Given the description of an element on the screen output the (x, y) to click on. 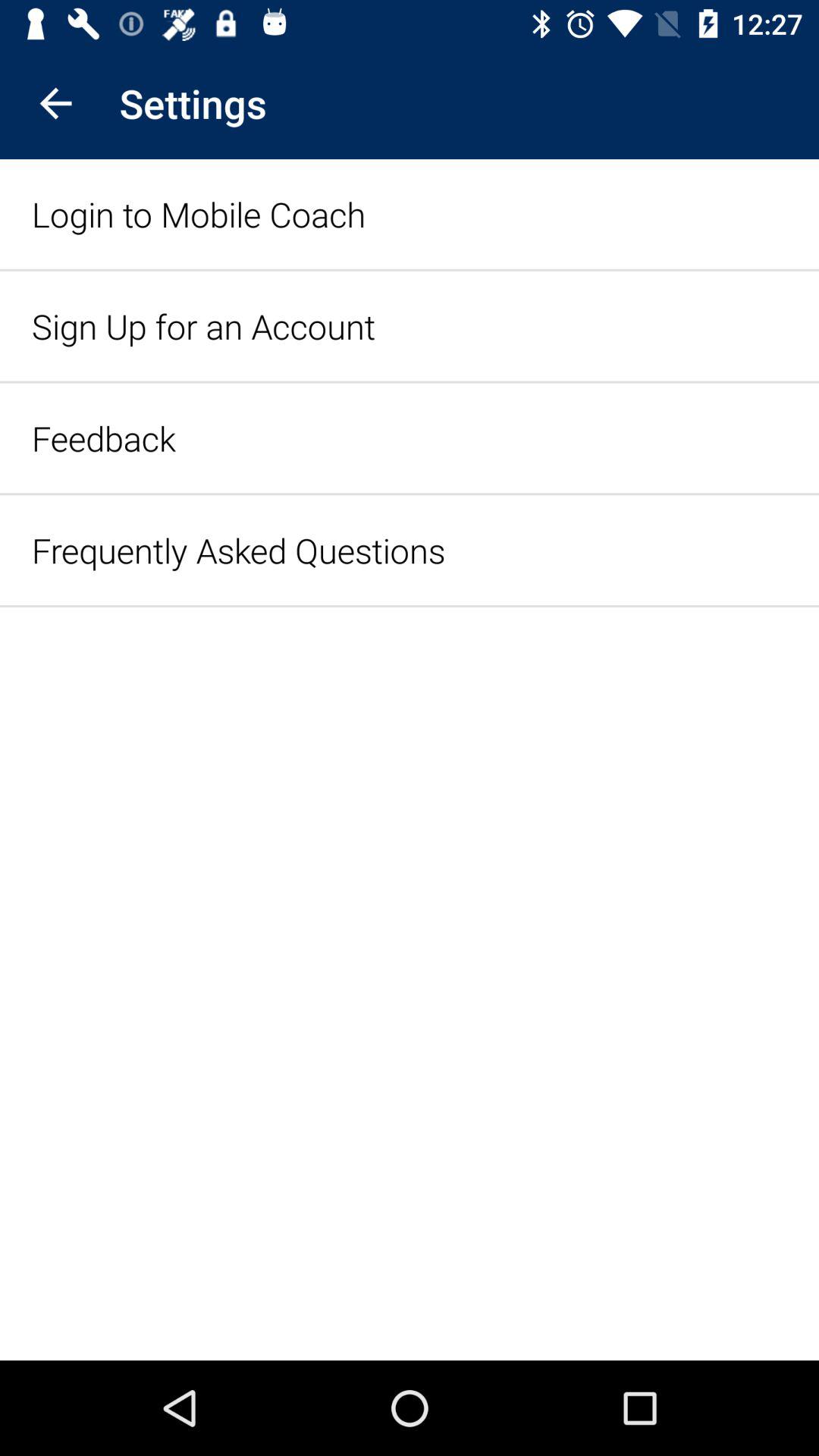
turn on icon above the feedback item (203, 326)
